Given the description of an element on the screen output the (x, y) to click on. 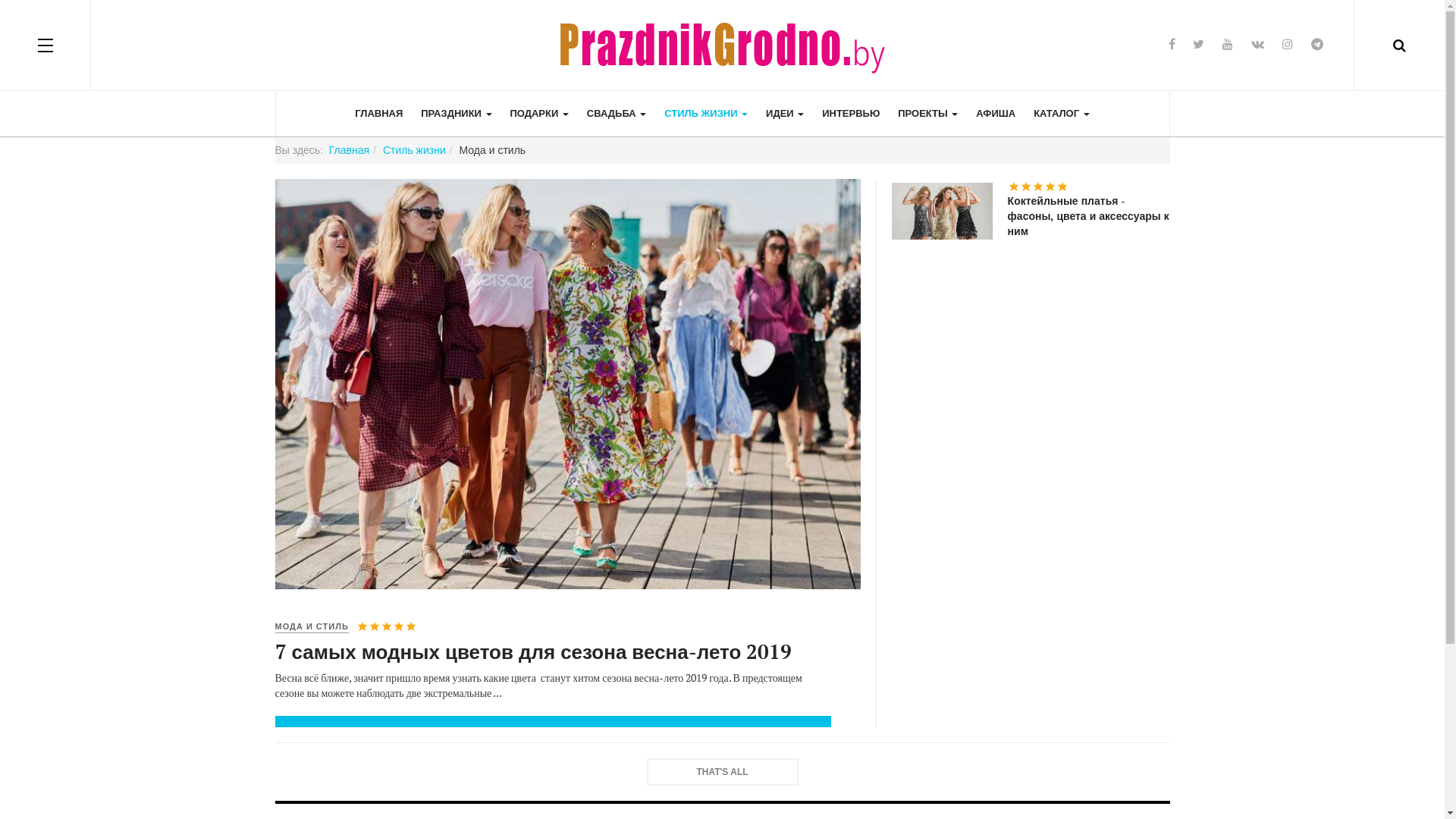
Twitter Element type: hover (1198, 43)
Youtube Element type: hover (1227, 43)
telegram Element type: hover (1317, 43)
Facebook Element type: hover (1171, 43)
vkontakte Element type: hover (1257, 43)
instagram Element type: hover (1287, 43)
